Given the description of an element on the screen output the (x, y) to click on. 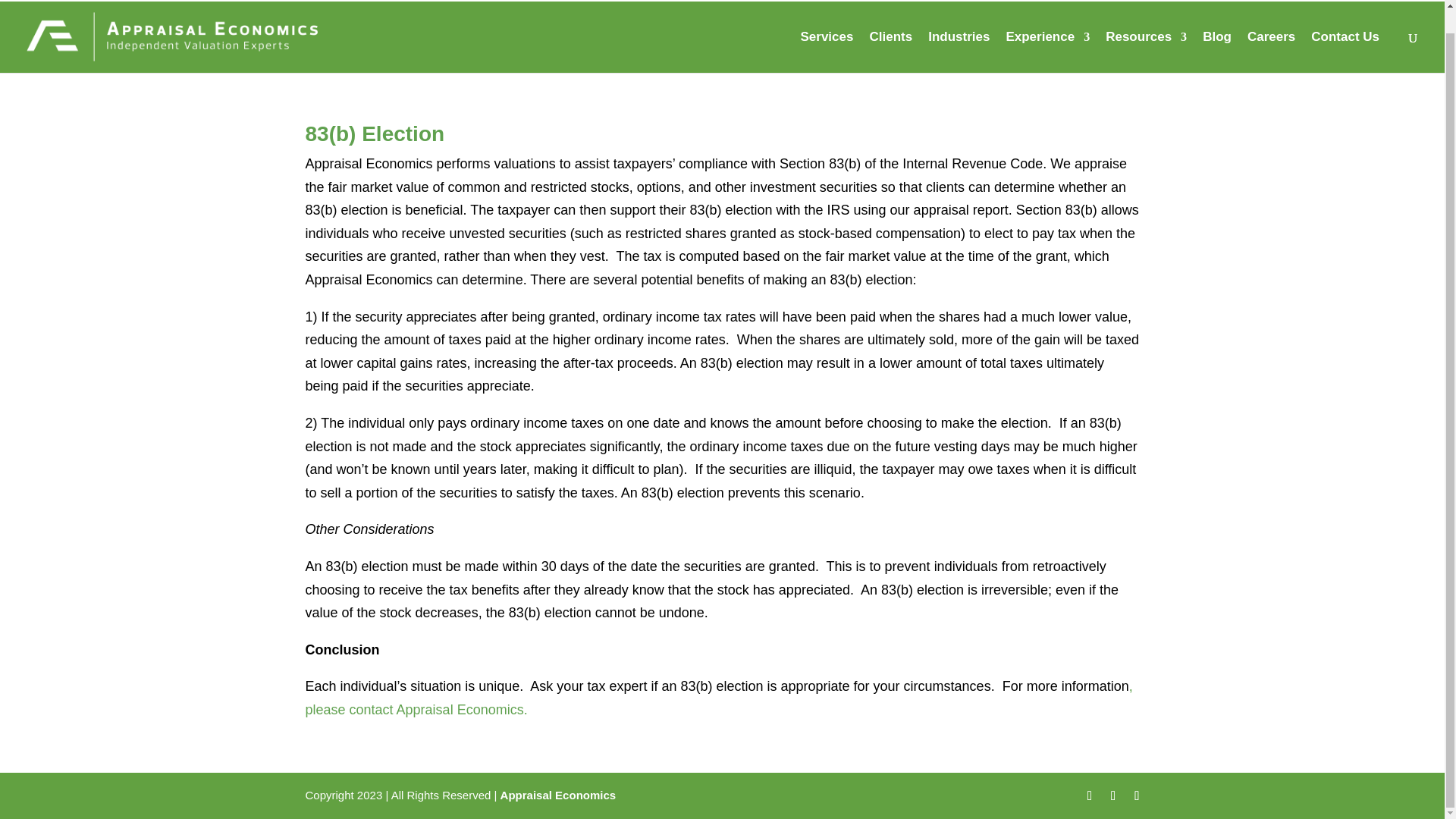
Client Login (1393, 0)
Contact Us (1344, 51)
Industries (959, 51)
Careers (1271, 51)
, please contact Appraisal Economics. (718, 697)
Clients (890, 51)
Resources (1145, 51)
Services (826, 51)
Experience (1047, 51)
